Given the description of an element on the screen output the (x, y) to click on. 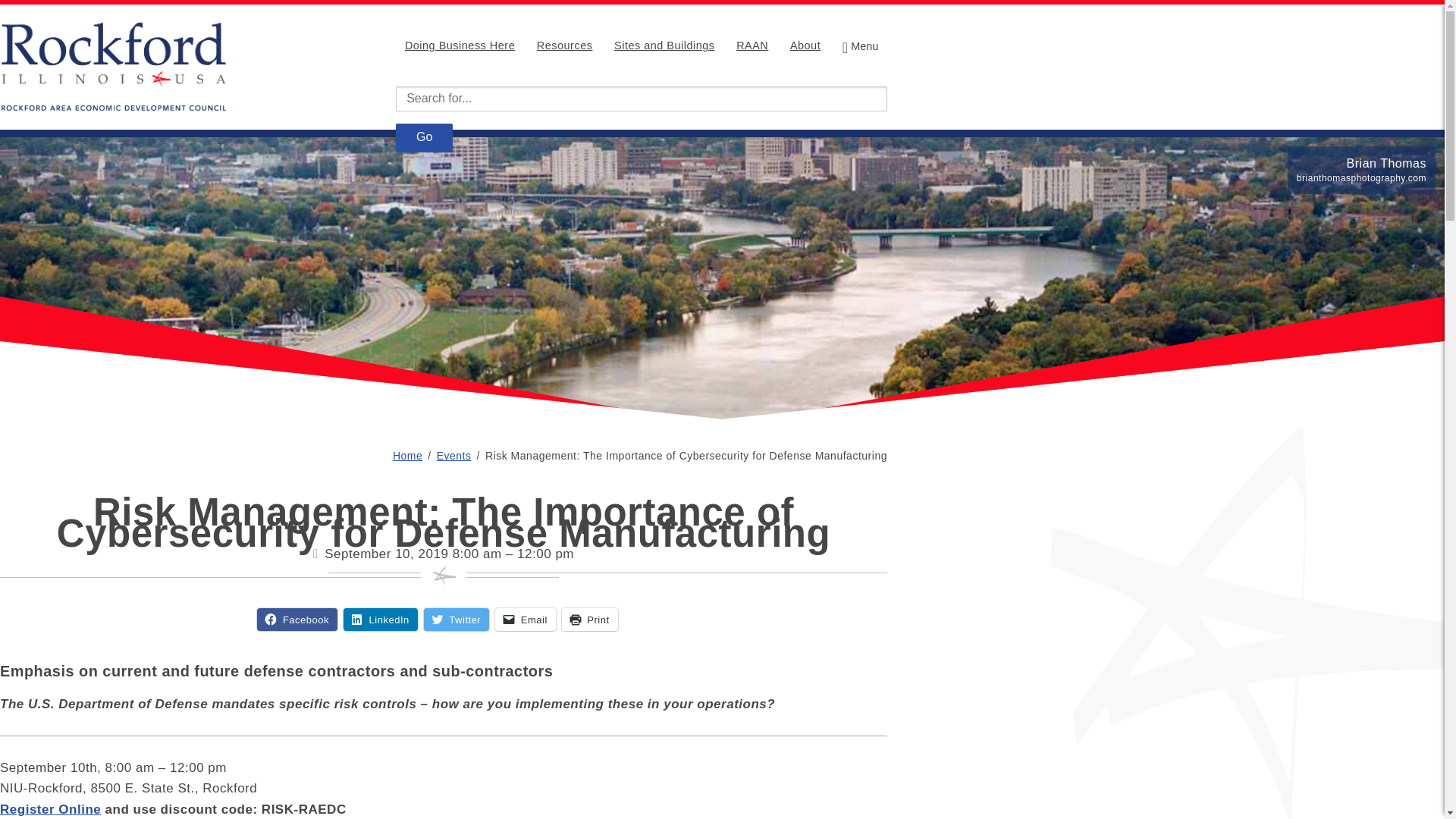
Click to share on LinkedIn (380, 619)
Click to print (589, 619)
Click to share on Facebook (297, 619)
Click to share on Twitter (456, 619)
Click to email a link to a friend (525, 619)
